Given the description of an element on the screen output the (x, y) to click on. 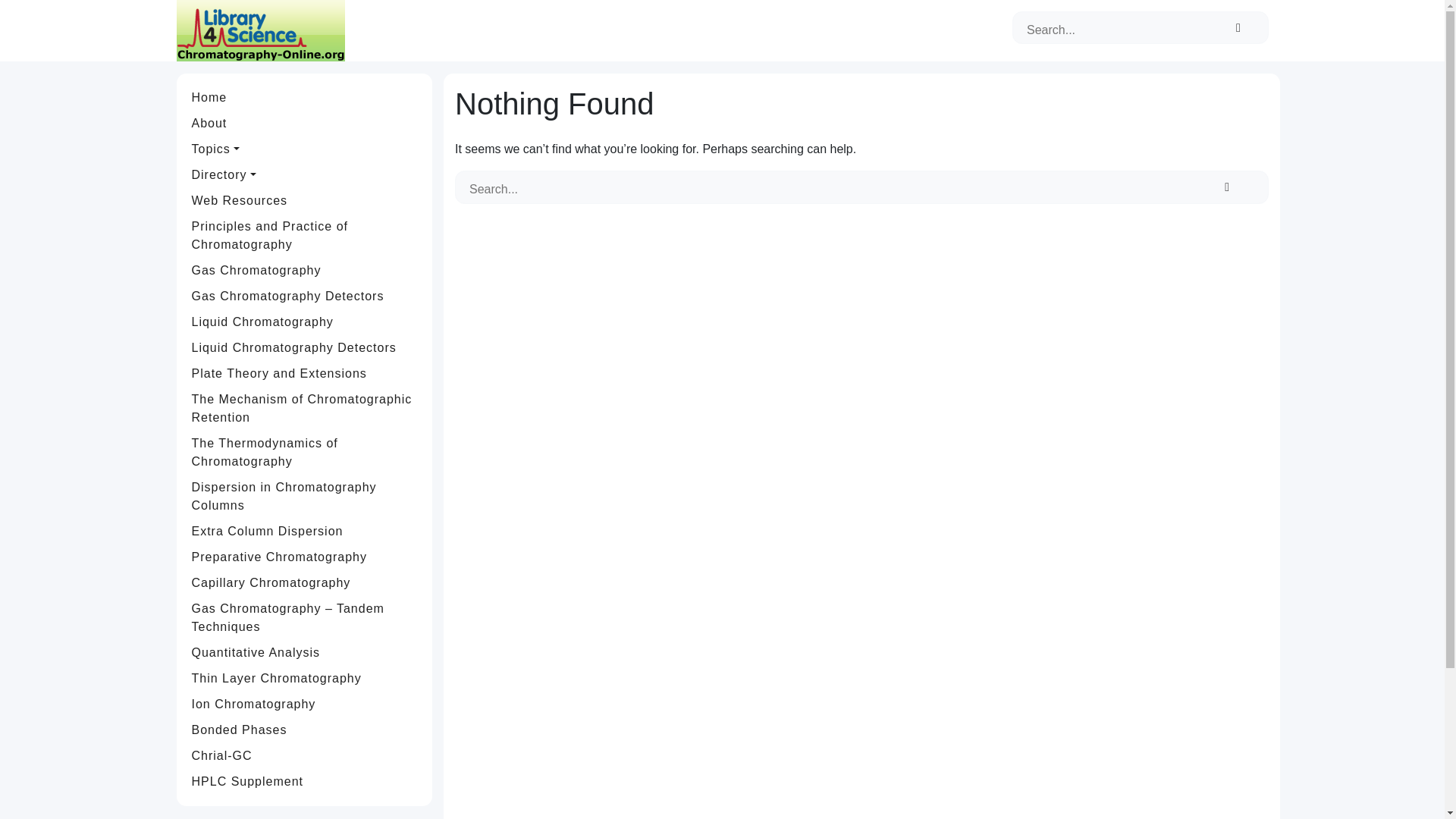
Gas Chromatography (304, 270)
Plate Theory and Extensions (304, 373)
Liquid Chromatography (304, 321)
Ion Chromatography (304, 704)
Chrial-GC (304, 755)
Bonded Phases (304, 729)
Web Resources (304, 200)
Quantitative Analysis (304, 652)
Preparative Chromatography (304, 557)
Topics (304, 149)
